Given the description of an element on the screen output the (x, y) to click on. 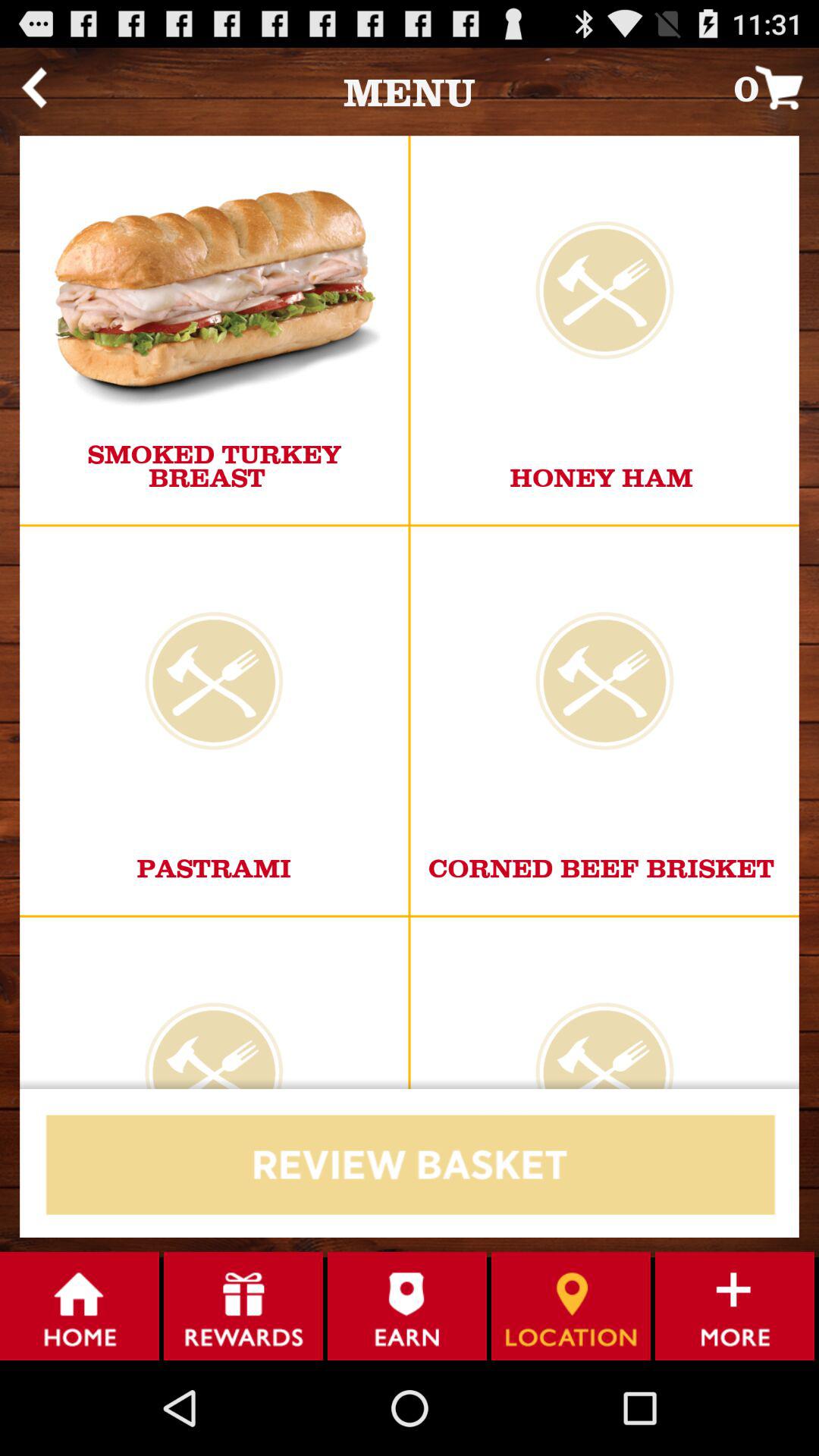
click the item to the left of menu (33, 87)
